Given the description of an element on the screen output the (x, y) to click on. 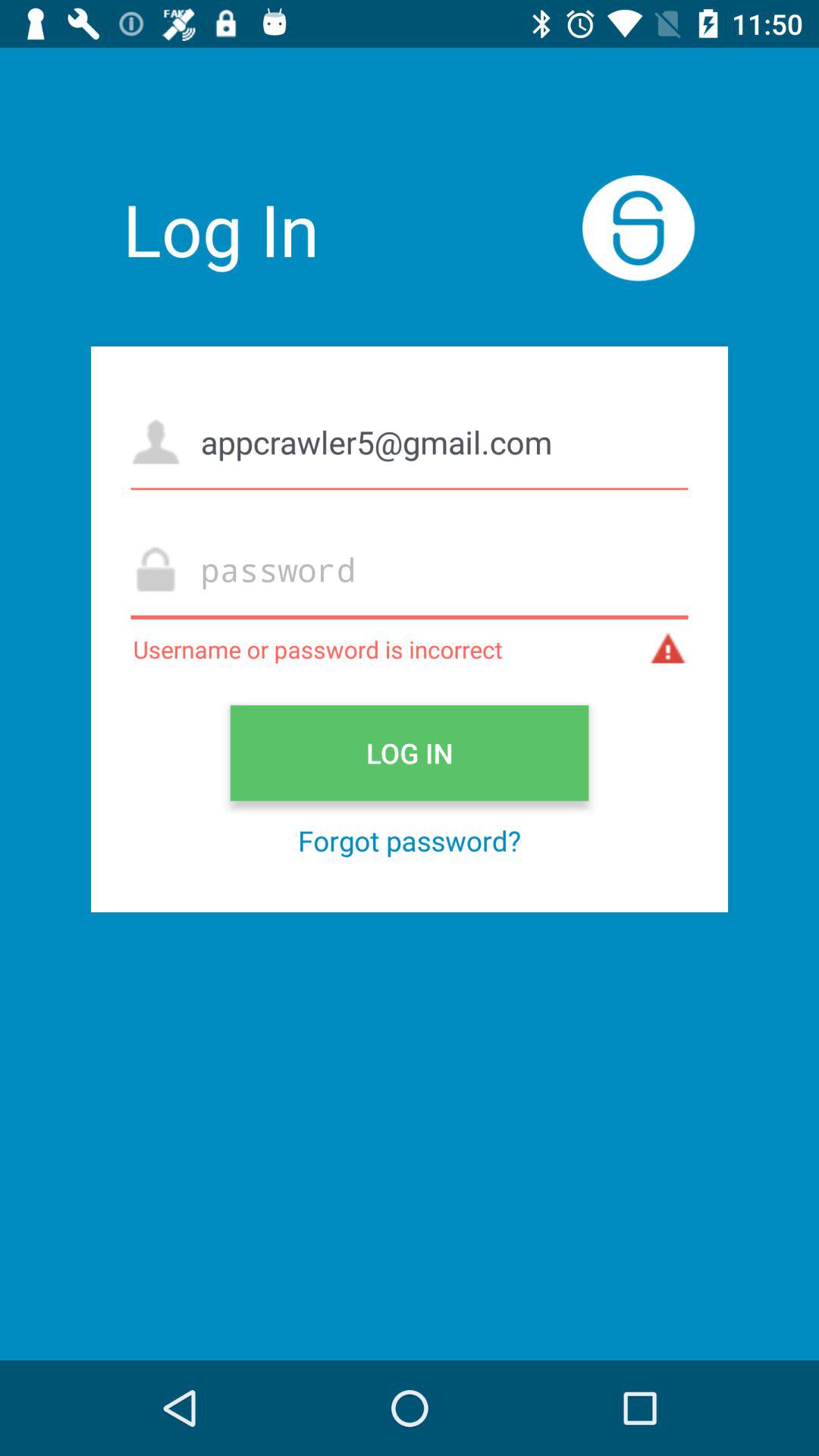
jump until the appcrawler5@gmail.com icon (409, 441)
